Given the description of an element on the screen output the (x, y) to click on. 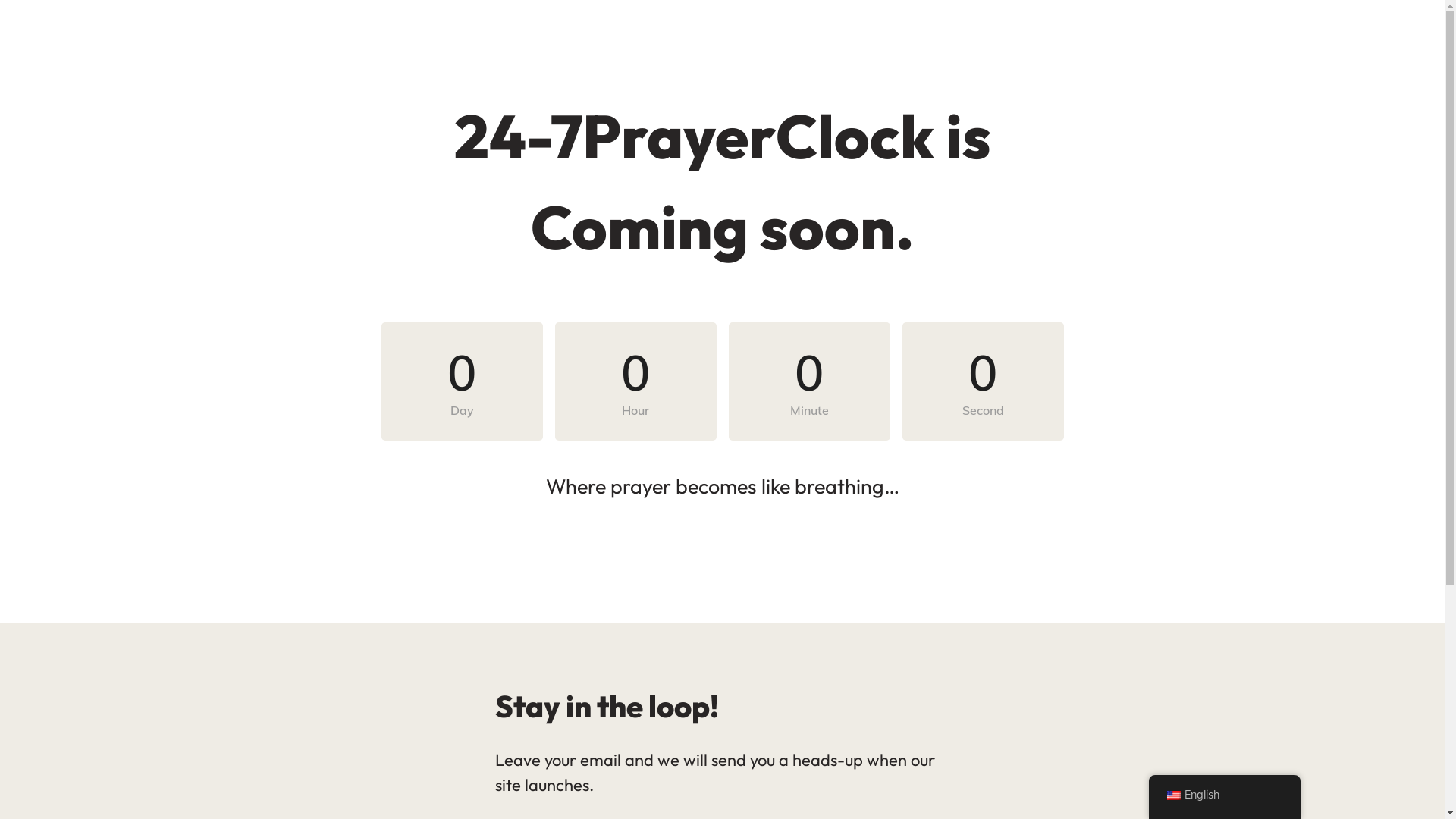
English Element type: text (1223, 795)
English Element type: hover (1172, 795)
